Given the description of an element on the screen output the (x, y) to click on. 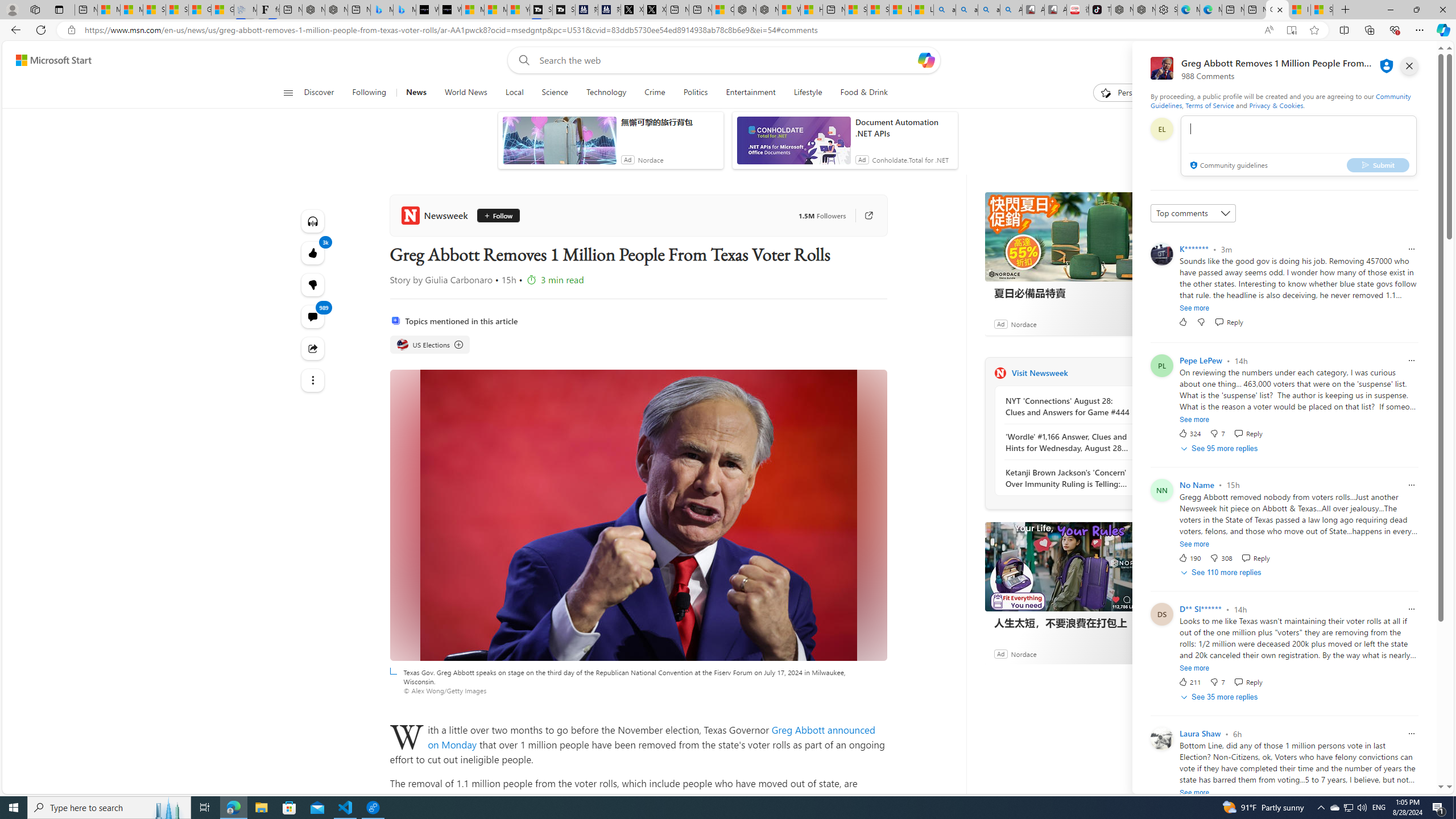
World News (465, 92)
